Given the description of an element on the screen output the (x, y) to click on. 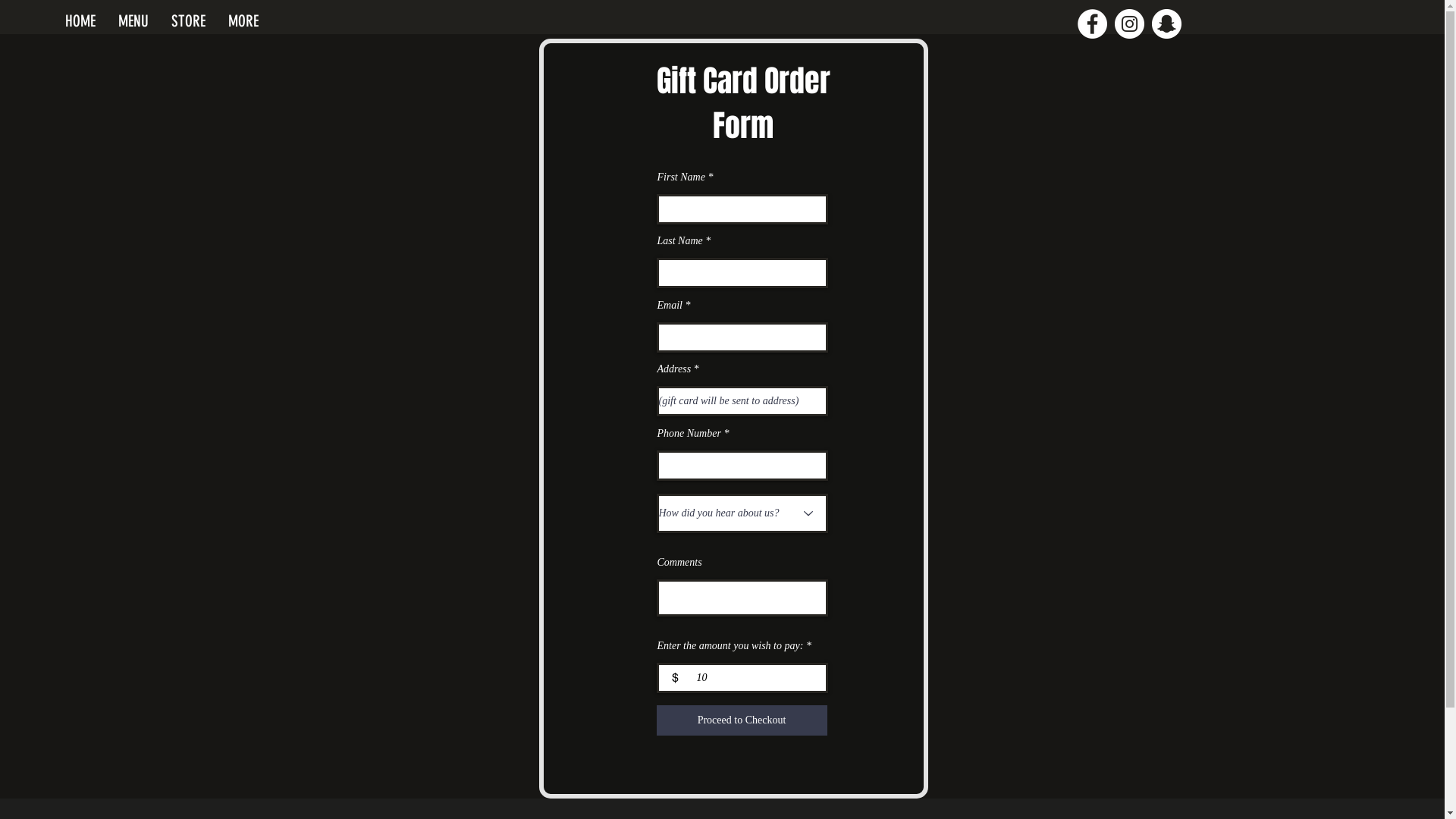
MENU Element type: text (133, 20)
STORE Element type: text (188, 20)
HOME Element type: text (79, 20)
Proceed to Checkout Element type: text (741, 720)
